Given the description of an element on the screen output the (x, y) to click on. 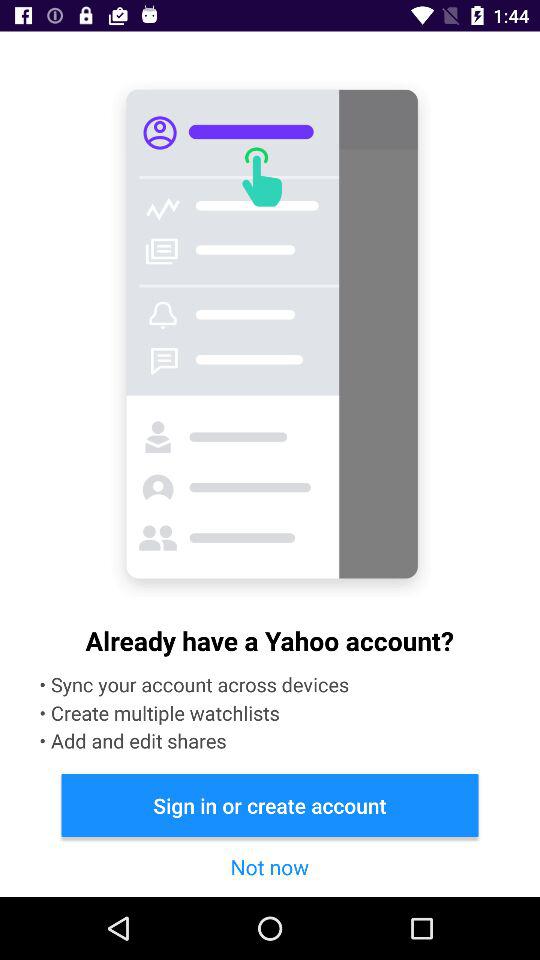
tap not now item (269, 866)
